Given the description of an element on the screen output the (x, y) to click on. 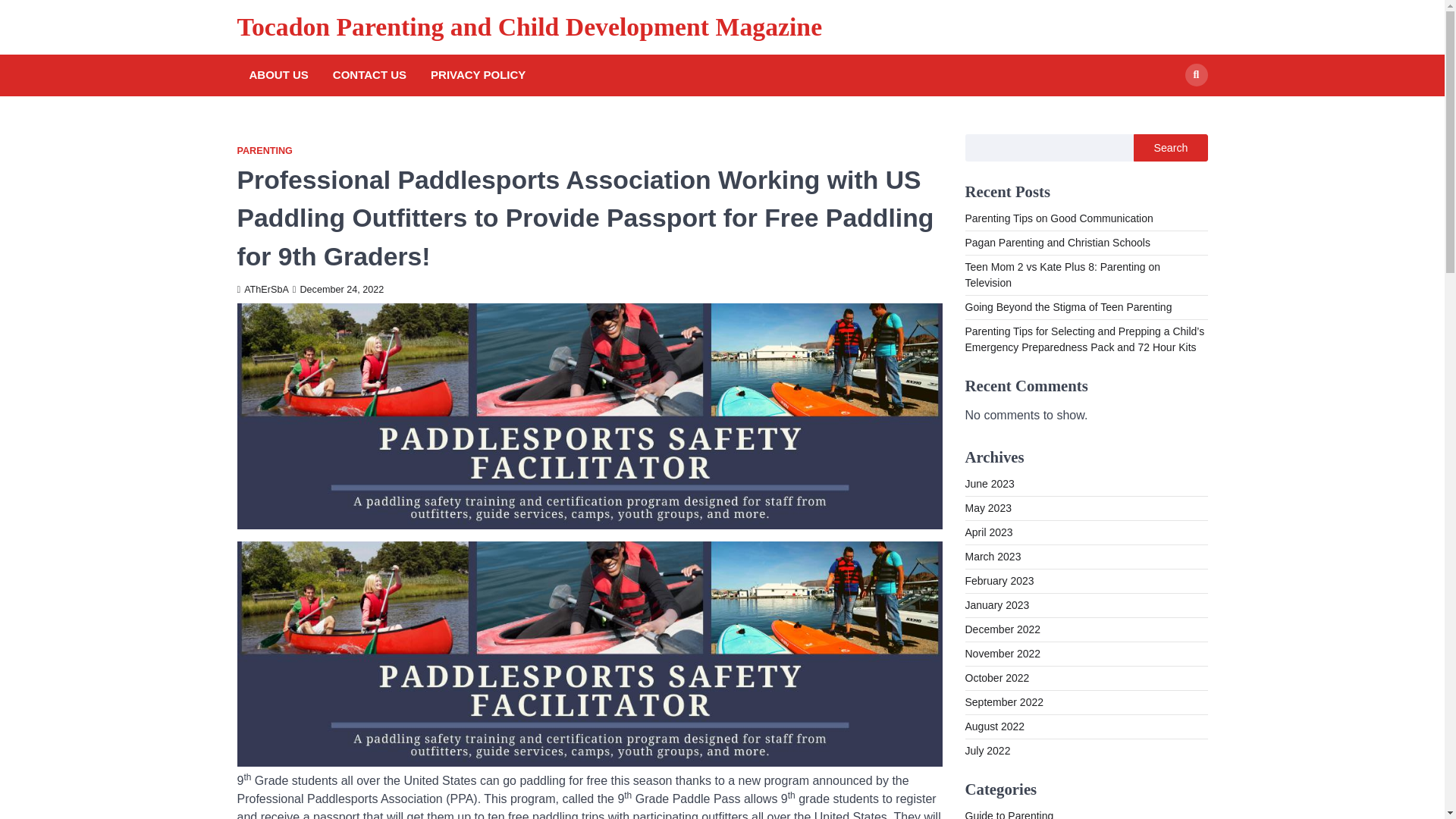
July 2022 (986, 750)
Search (1170, 147)
Tocadon Parenting and Child Development Magazine (528, 26)
PARENTING (263, 151)
AThErSbA (261, 289)
PRIVACY POLICY (478, 75)
November 2022 (1002, 653)
Teen Mom 2 vs Kate Plus 8: Parenting on Television (1061, 275)
December 24, 2022 (338, 289)
October 2022 (996, 677)
August 2022 (994, 726)
Going Beyond the Stigma of Teen Parenting (1067, 306)
March 2023 (991, 556)
Search (1168, 109)
ABOUT US (278, 75)
